Given the description of an element on the screen output the (x, y) to click on. 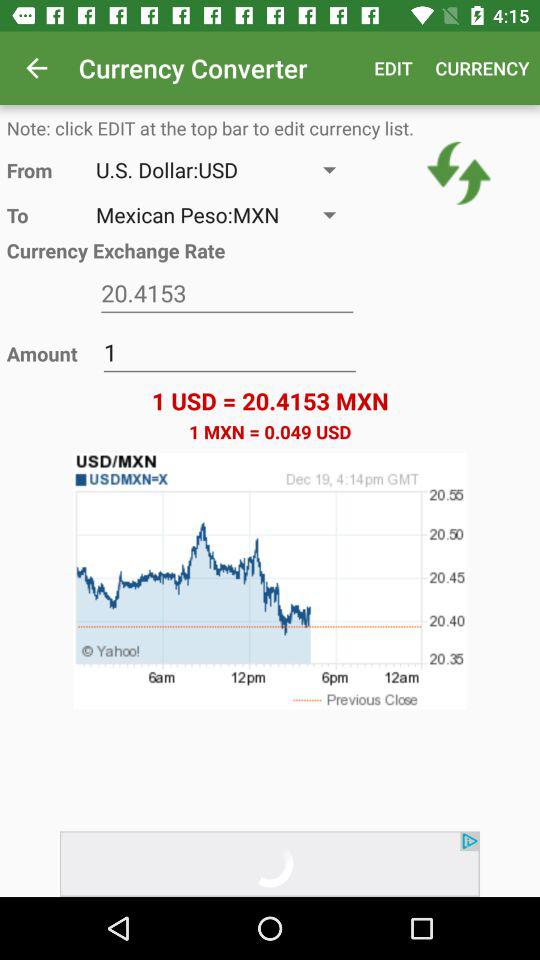
press the item below the edit icon (458, 173)
